Given the description of an element on the screen output the (x, y) to click on. 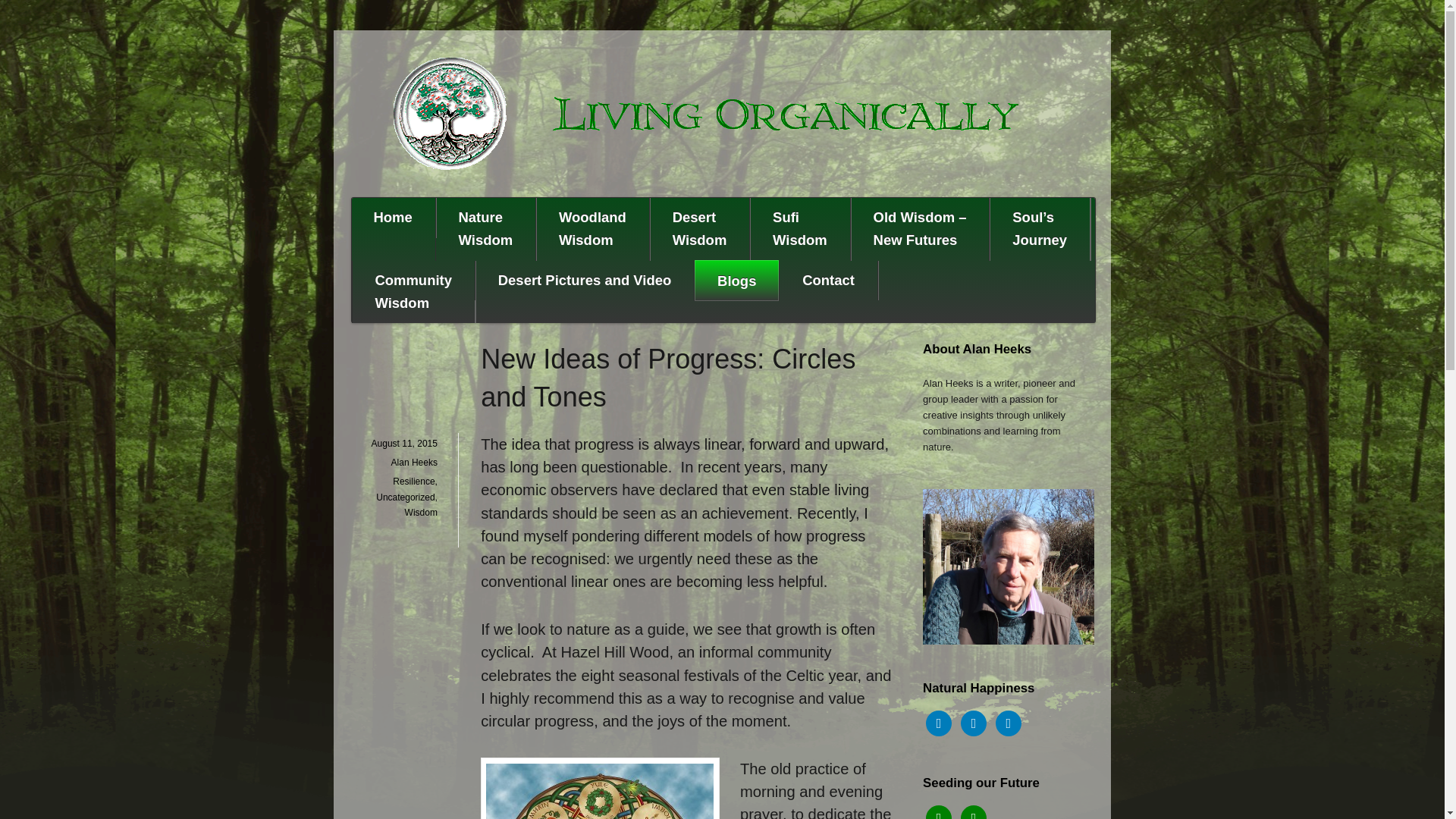
Facebook (592, 229)
facebook (939, 815)
Desert Pictures and Video (939, 815)
Posts by Alan Heeks (584, 281)
Facebook (414, 462)
youtube (939, 722)
Resilience (1008, 722)
Alan Heeks (413, 480)
facebook (798, 229)
twitter (414, 462)
Default Label (939, 722)
Uncategorized (973, 815)
Twitter (1008, 722)
